Given the description of an element on the screen output the (x, y) to click on. 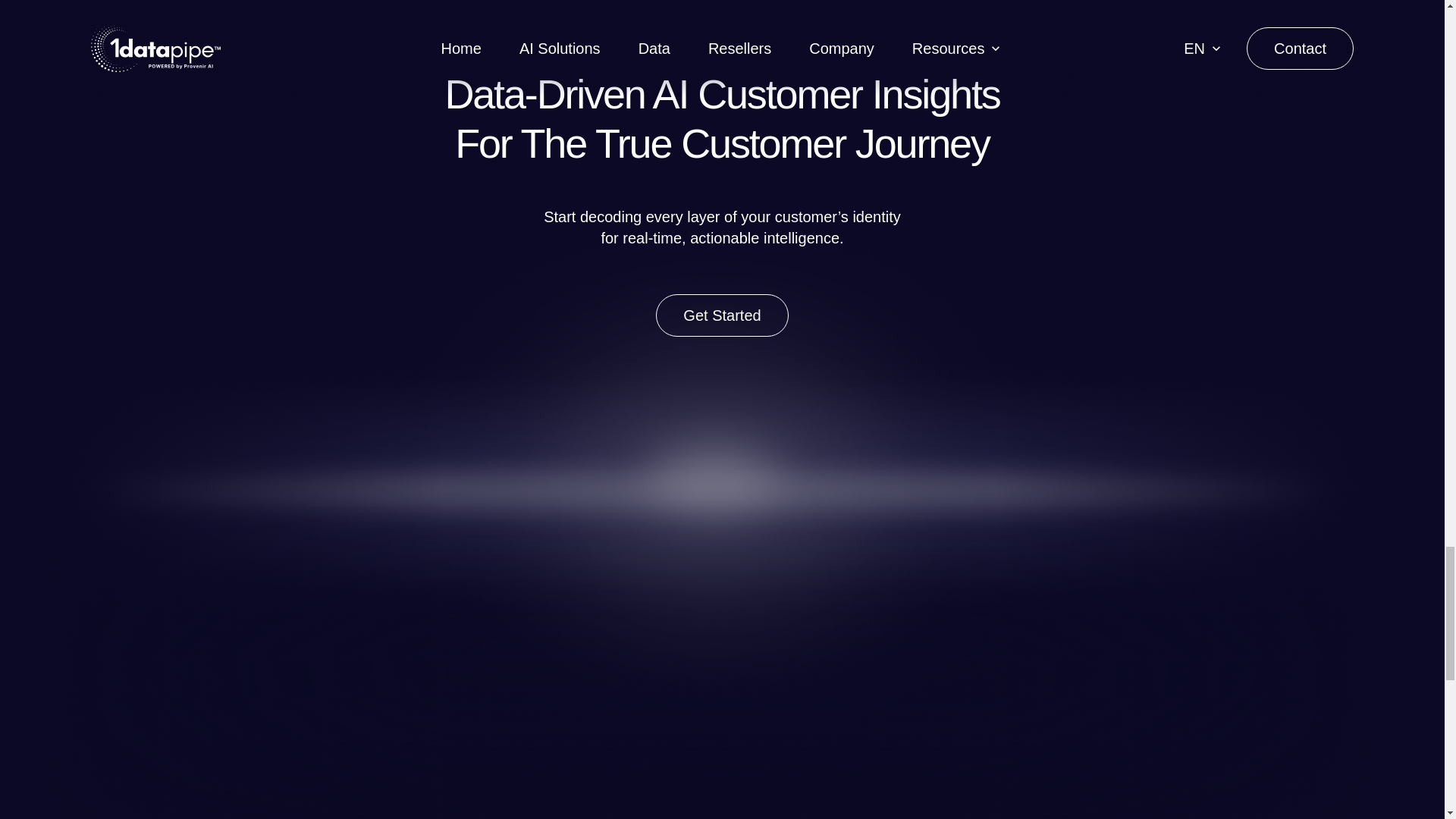
Get Started (721, 315)
